Given the description of an element on the screen output the (x, y) to click on. 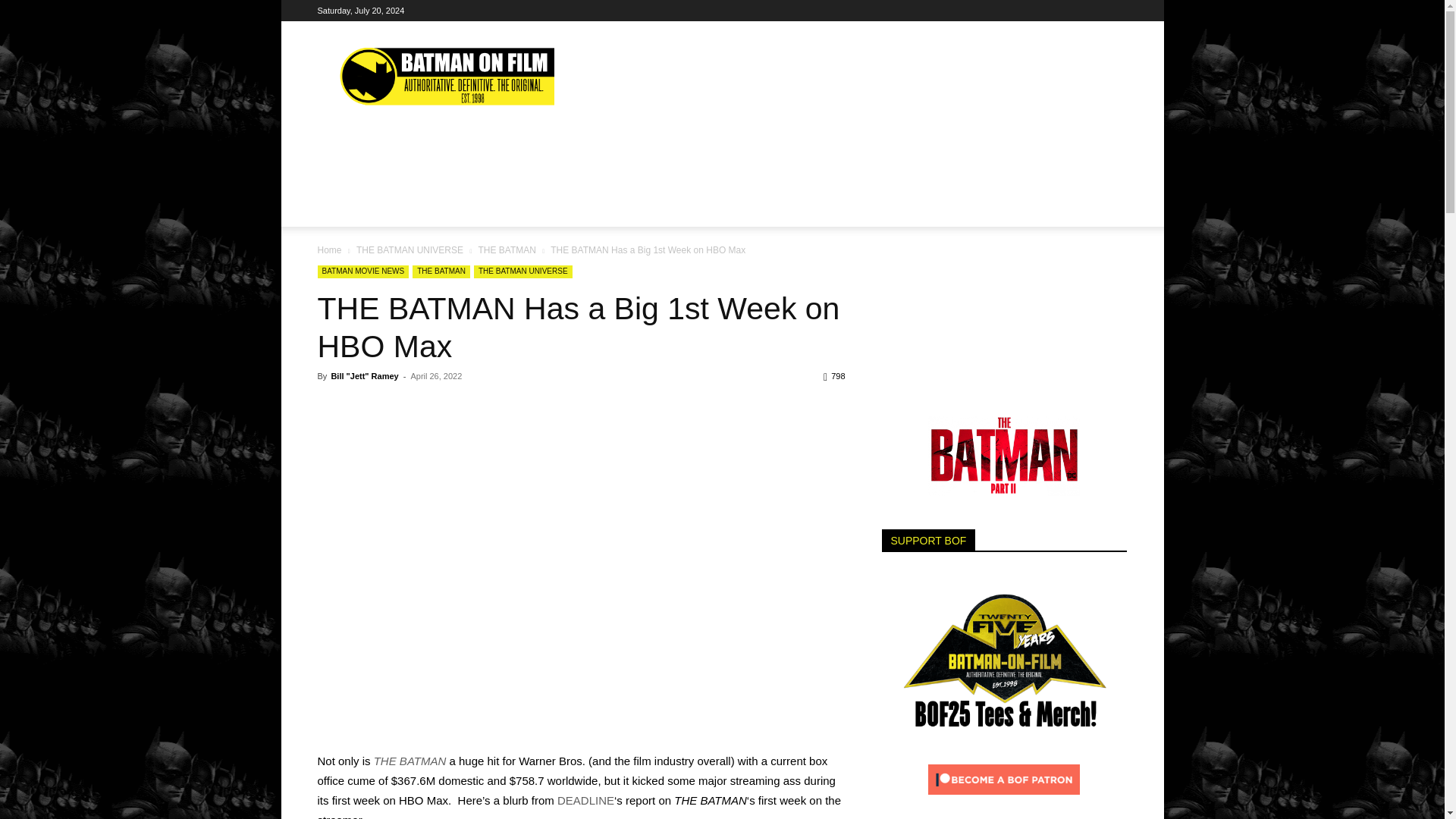
View all posts in THE BATMAN (506, 249)
View all posts in THE BATMAN UNIVERSE (409, 249)
